Given the description of an element on the screen output the (x, y) to click on. 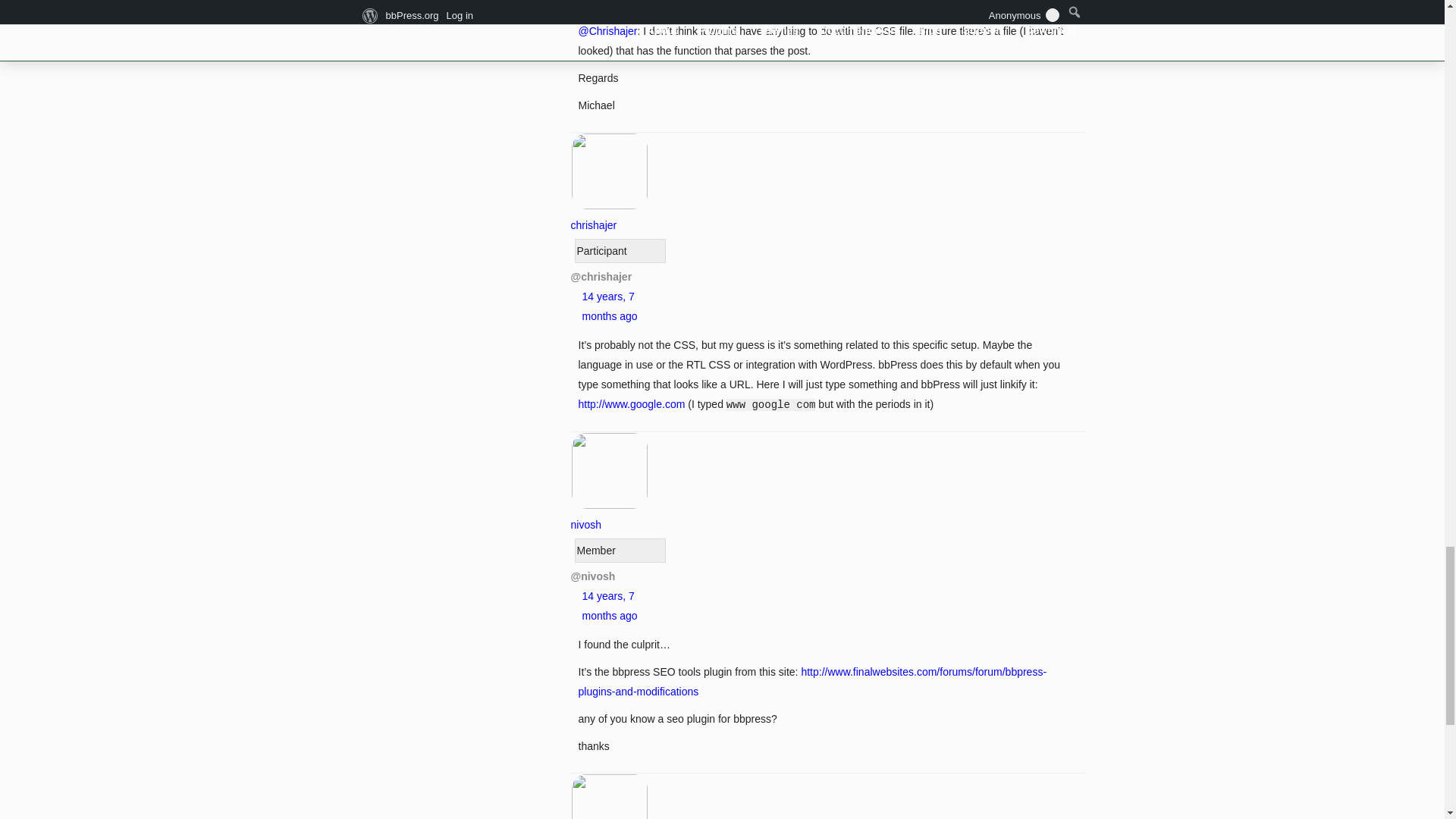
chrishajer (608, 214)
14 years, 7 months ago (609, 605)
nivosh (608, 514)
14 years, 7 months ago (609, 306)
